Given the description of an element on the screen output the (x, y) to click on. 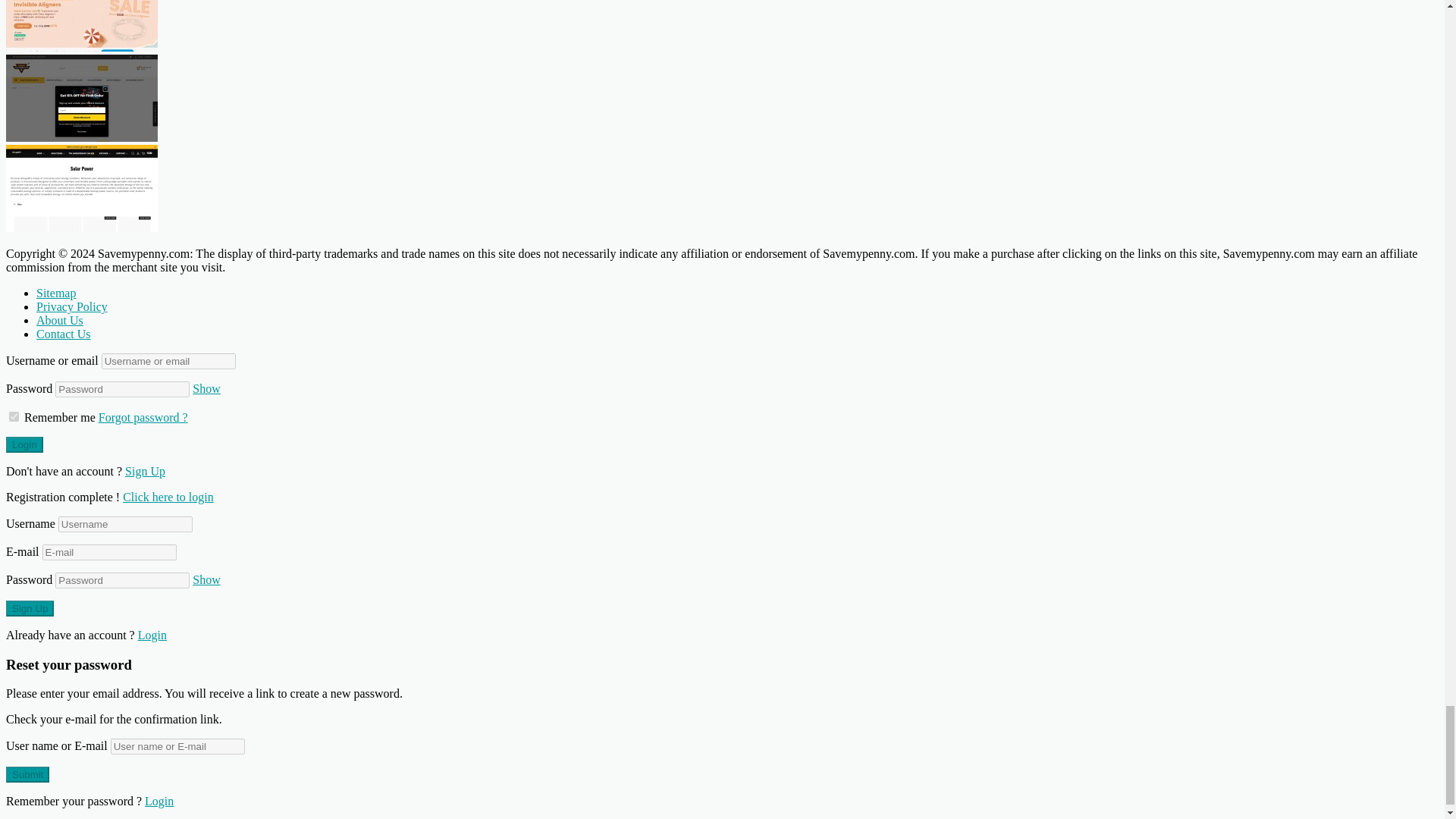
Sign Up (29, 608)
forever (13, 416)
Login (24, 444)
Submit (27, 774)
